Given the description of an element on the screen output the (x, y) to click on. 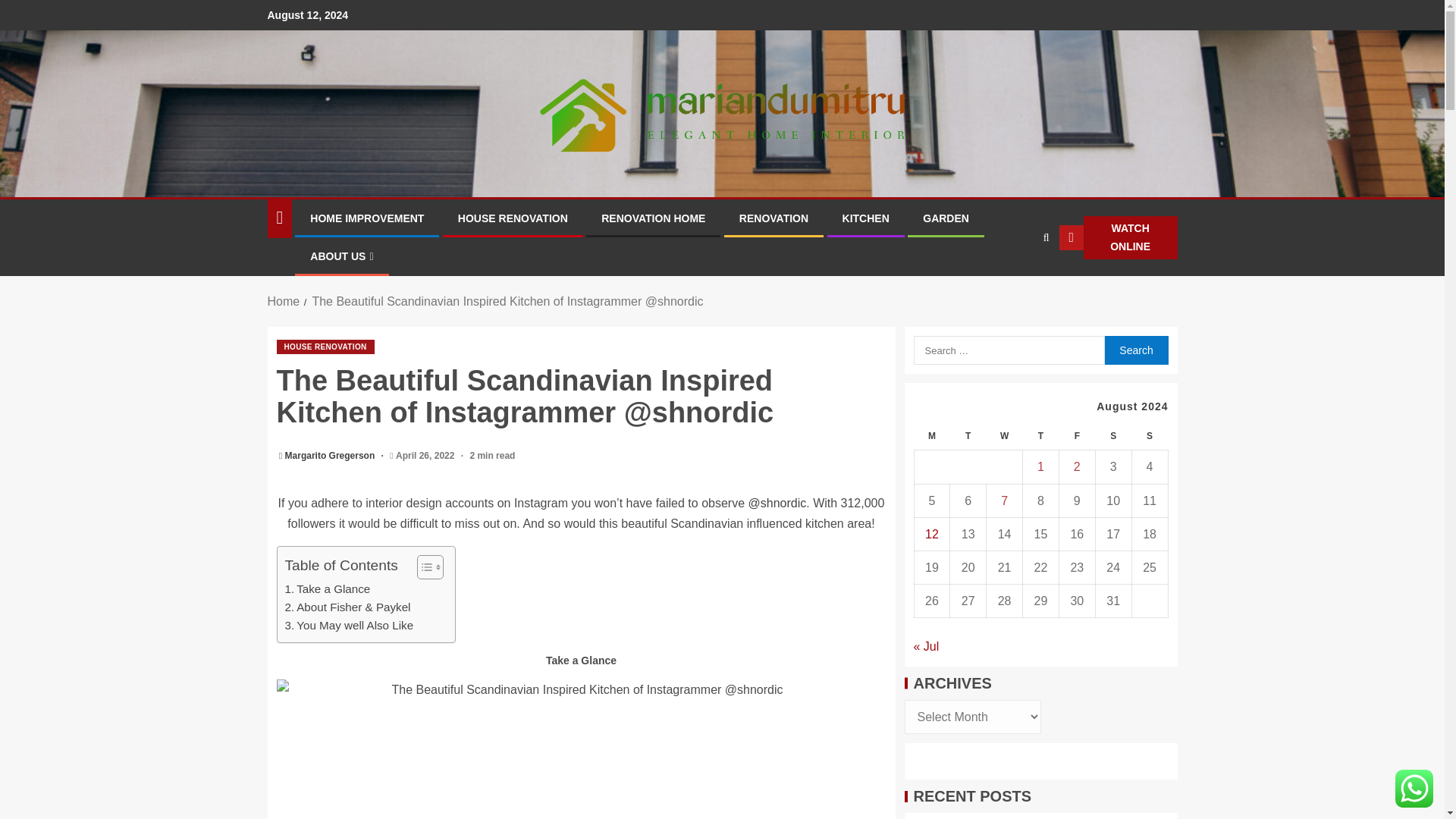
Margarito Gregerson (331, 455)
You May well Also Like (349, 625)
Thursday (1041, 436)
Search (1015, 284)
HOUSE RENOVATION (512, 218)
HOUSE RENOVATION (325, 346)
Home (282, 300)
ABOUT US (341, 256)
WATCH ONLINE (1118, 238)
Search (1135, 349)
